Given the description of an element on the screen output the (x, y) to click on. 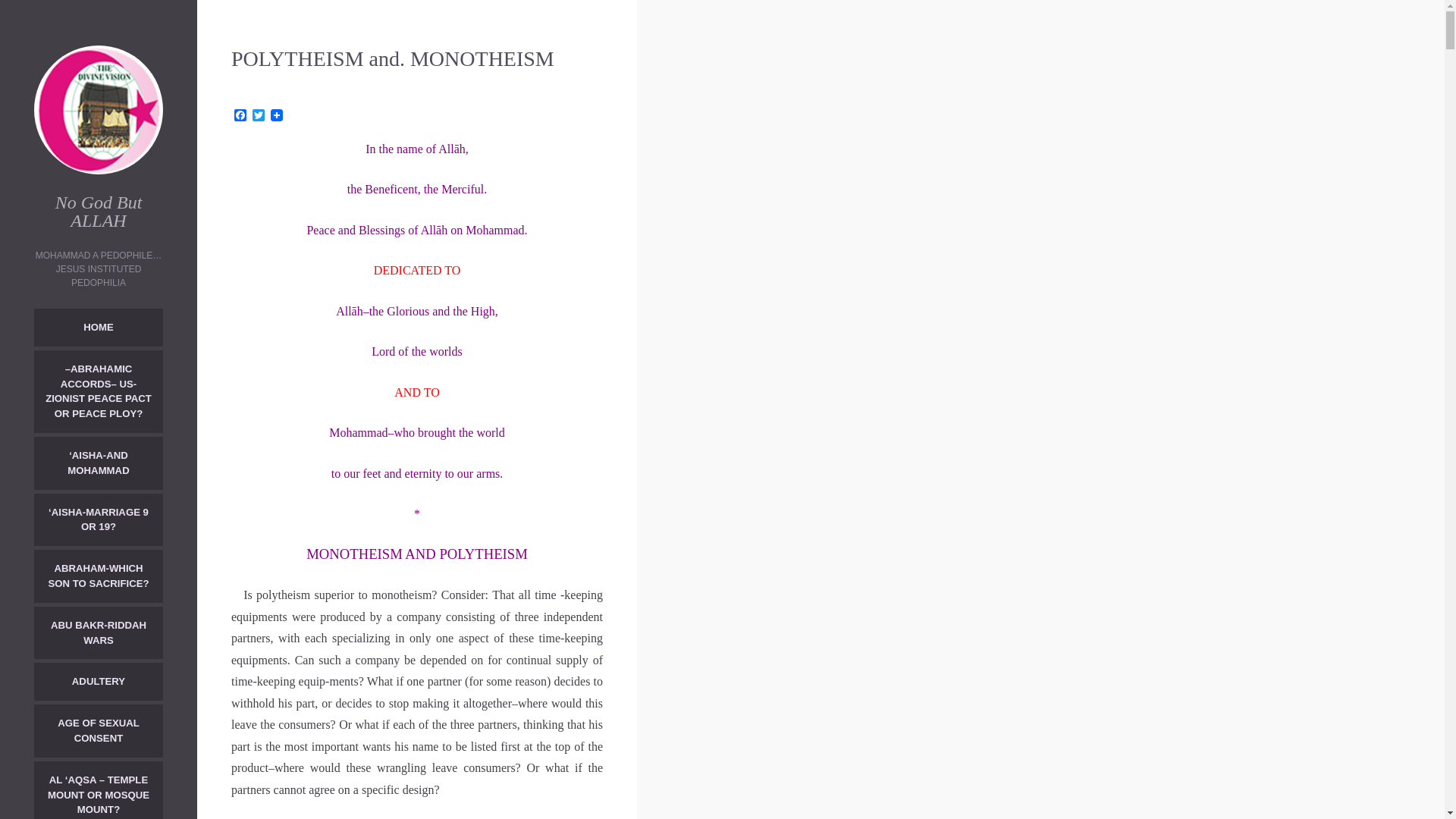
ABRAHAM-WHICH SON TO SACRIFICE? (98, 575)
AGE OF SEXUAL CONSENT (98, 730)
ABU BAKR-RIDDAH WARS (98, 633)
Twitter (257, 115)
No God But ALLAH (98, 211)
ADULTERY (98, 681)
Facebook (239, 115)
HOME (98, 327)
